Given the description of an element on the screen output the (x, y) to click on. 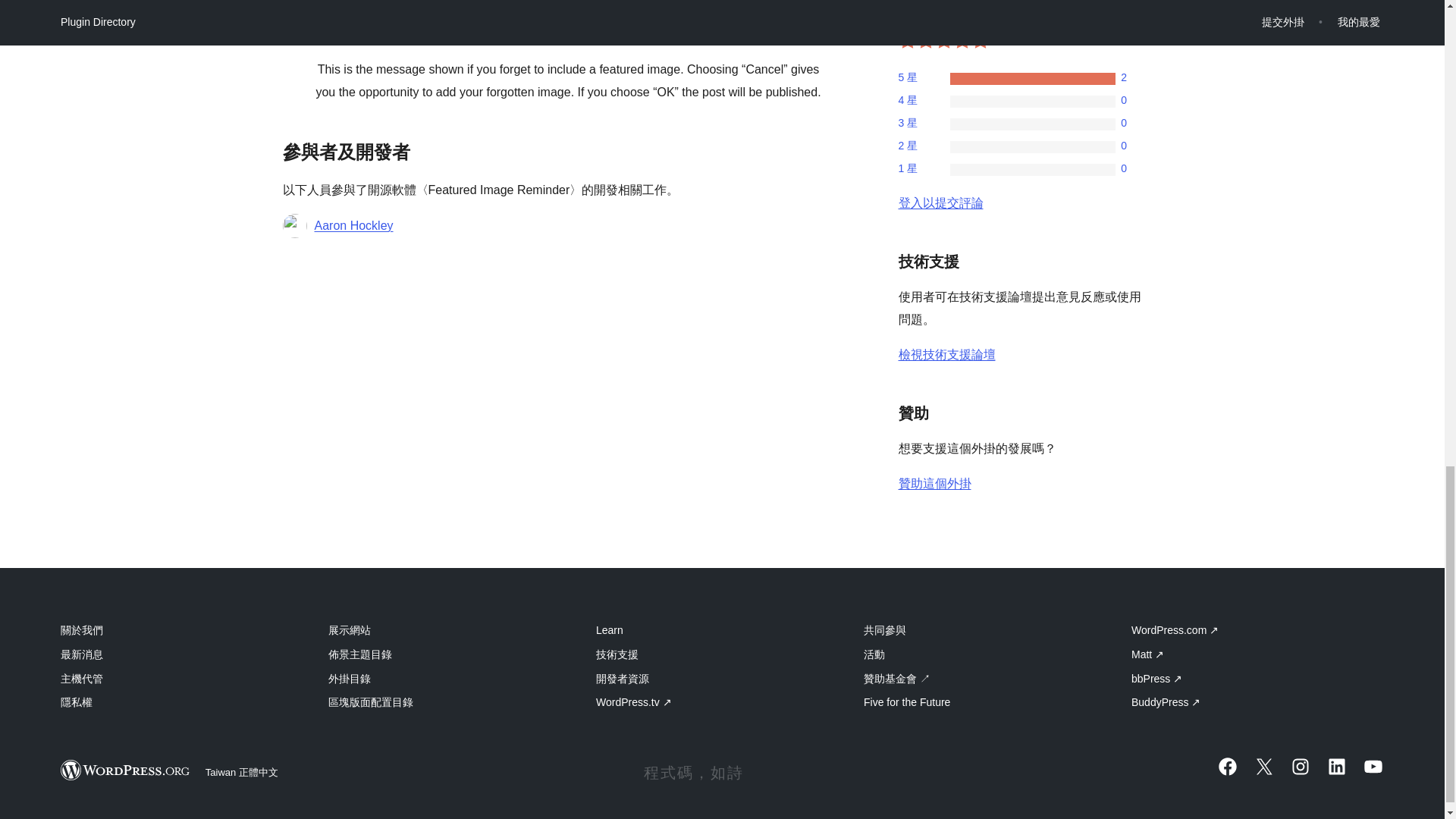
Aaron Hockley (353, 225)
WordPress.org (125, 770)
